Given the description of an element on the screen output the (x, y) to click on. 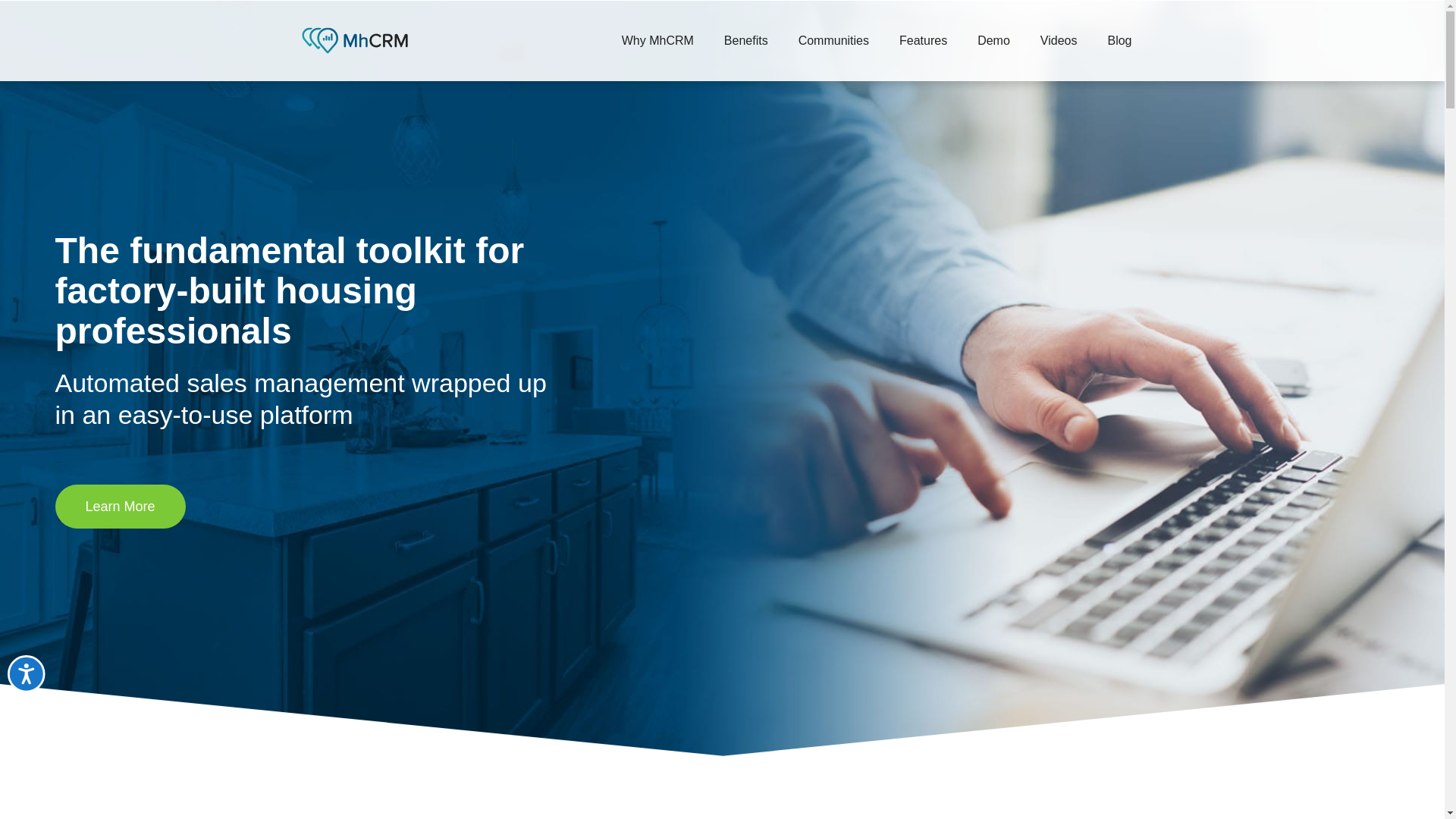
Why MhCRM (658, 40)
Blog (1119, 40)
Communities (833, 40)
Videos (1059, 40)
Demo (993, 40)
Benefits (746, 40)
Features (922, 40)
Accessibility (41, 689)
Learn More (119, 506)
